Given the description of an element on the screen output the (x, y) to click on. 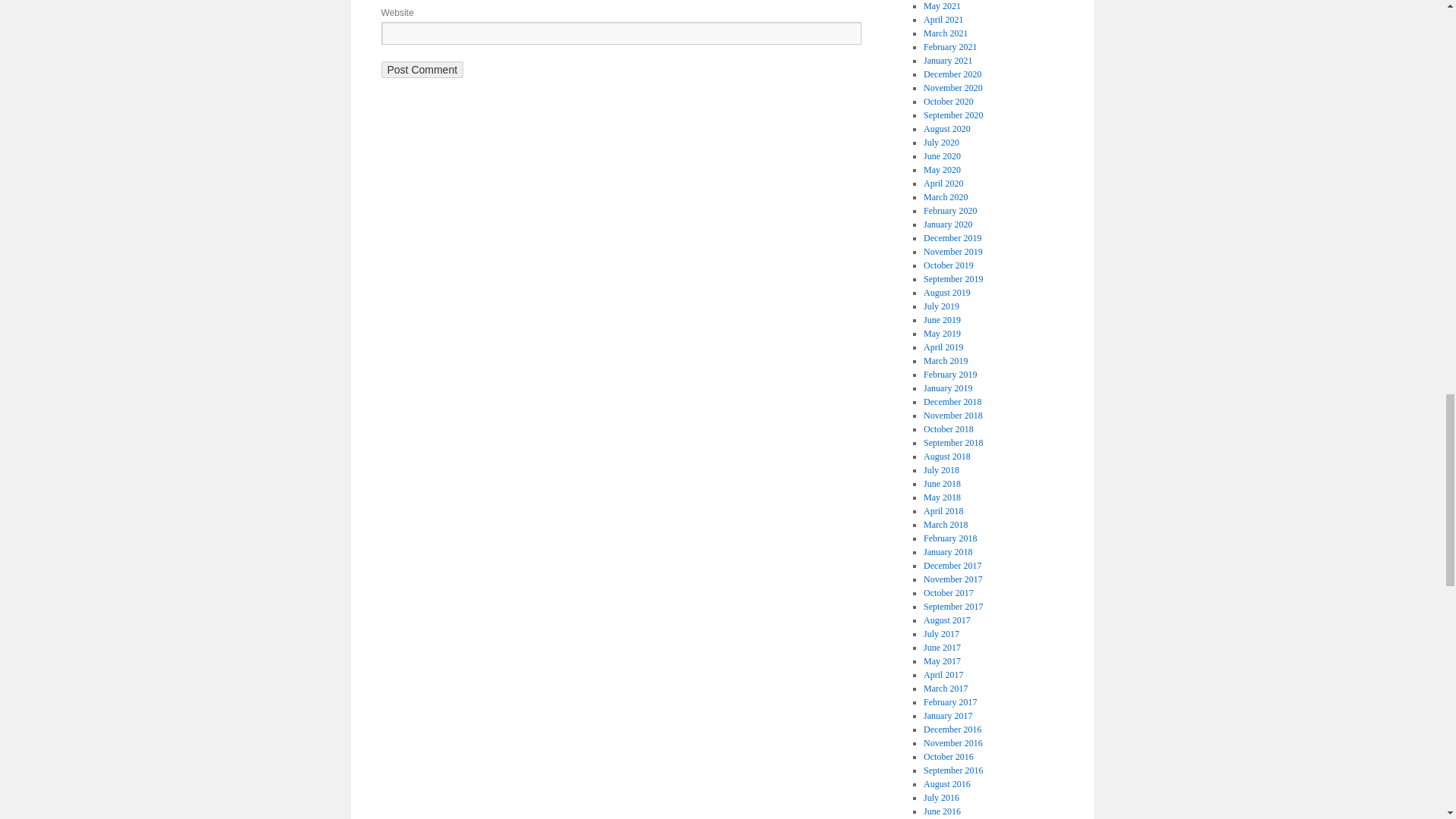
Post Comment (421, 69)
